Given the description of an element on the screen output the (x, y) to click on. 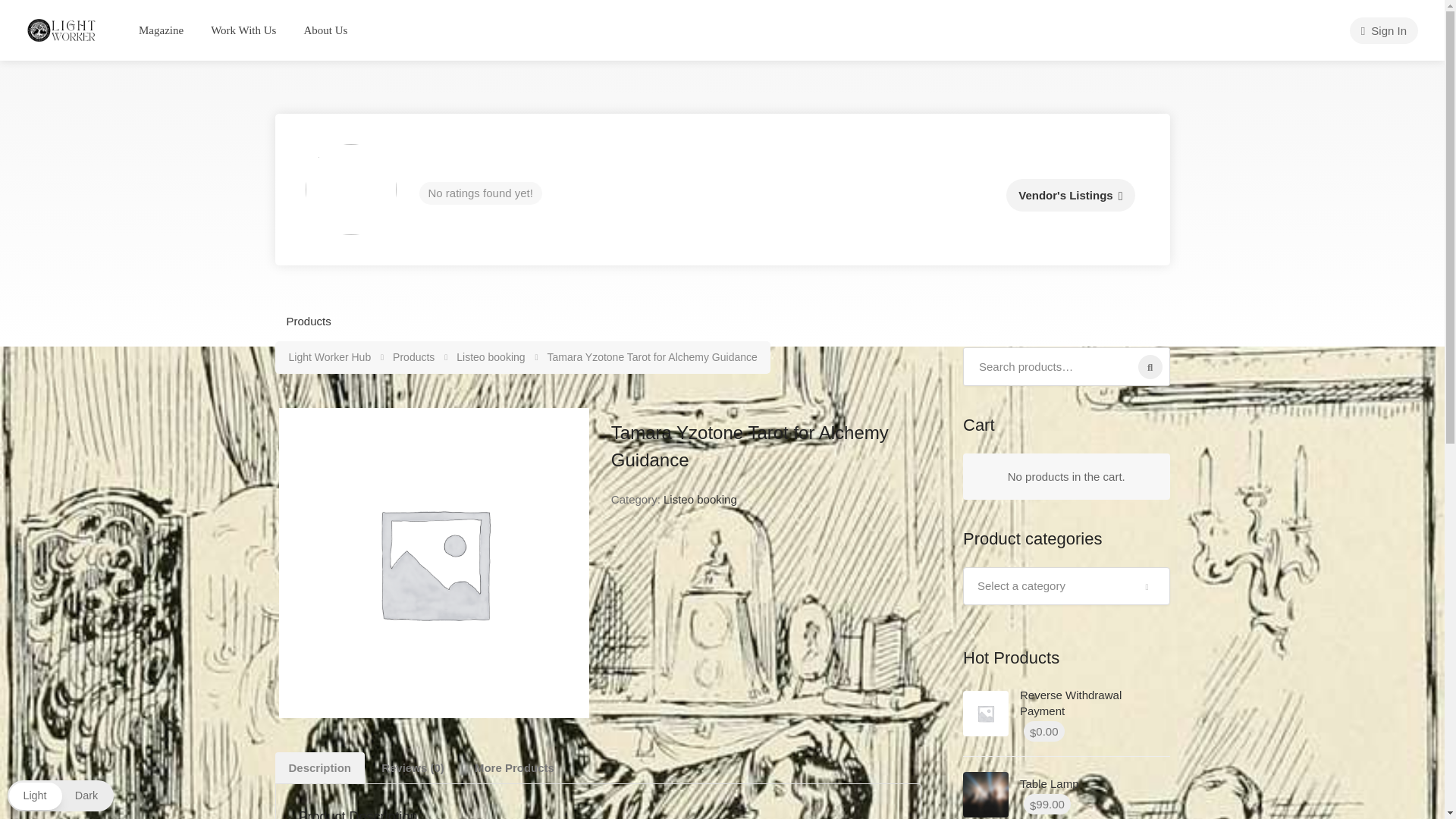
Listeo booking (699, 499)
Light Worker Hub (330, 357)
Go to Light Worker Hub. (330, 357)
Products (308, 320)
Listeo booking (492, 357)
About Us (325, 30)
Products (414, 357)
Sign In (1383, 30)
Go to Products. (414, 357)
Description (320, 767)
Go to the Listeo booking Category archives. (492, 357)
Vendor's Listings (1070, 195)
Work With Us (242, 30)
Magazine (161, 30)
Light Worker Hub (62, 29)
